Given the description of an element on the screen output the (x, y) to click on. 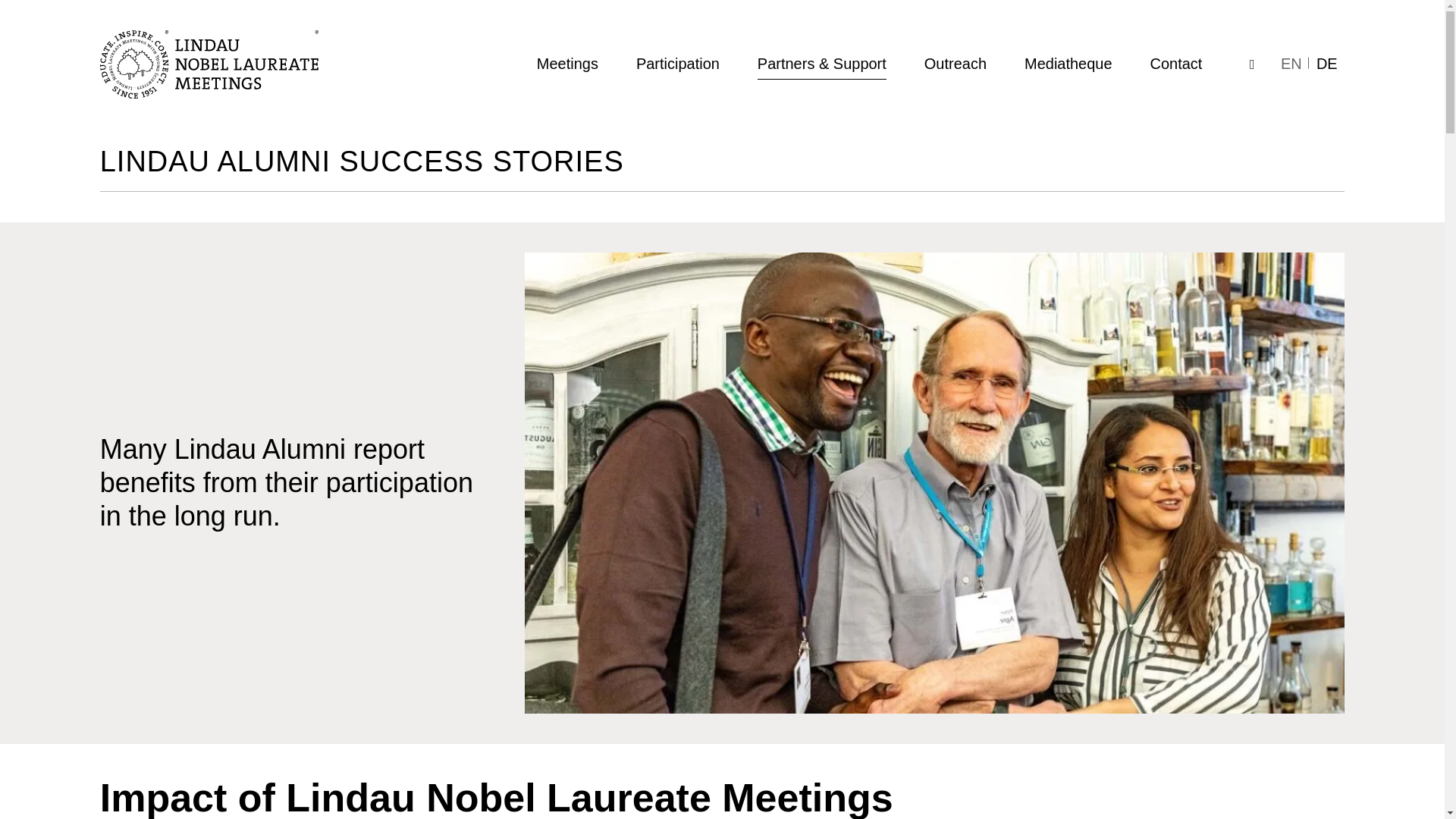
Mediatheque (1068, 63)
Outreach (955, 63)
Meetings (567, 63)
Participation (677, 63)
